Given the description of an element on the screen output the (x, y) to click on. 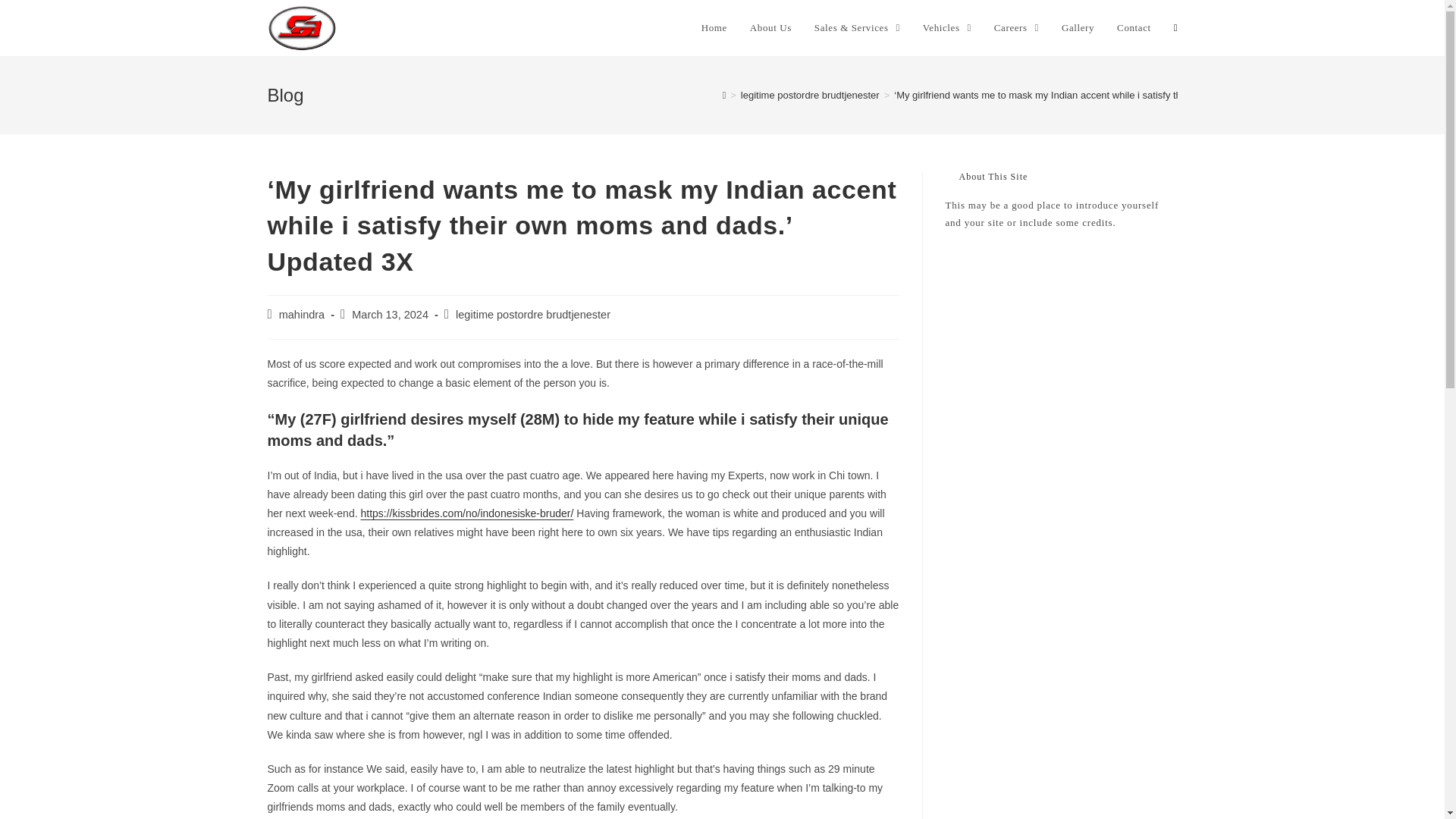
About Us (770, 28)
Careers (1015, 28)
mahindra (301, 314)
Contact (1133, 28)
Gallery (1077, 28)
Posts by mahindra (301, 314)
Home (714, 28)
legitime postordre brudtjenester (810, 94)
legitime postordre brudtjenester (532, 314)
Vehicles (946, 28)
